Given the description of an element on the screen output the (x, y) to click on. 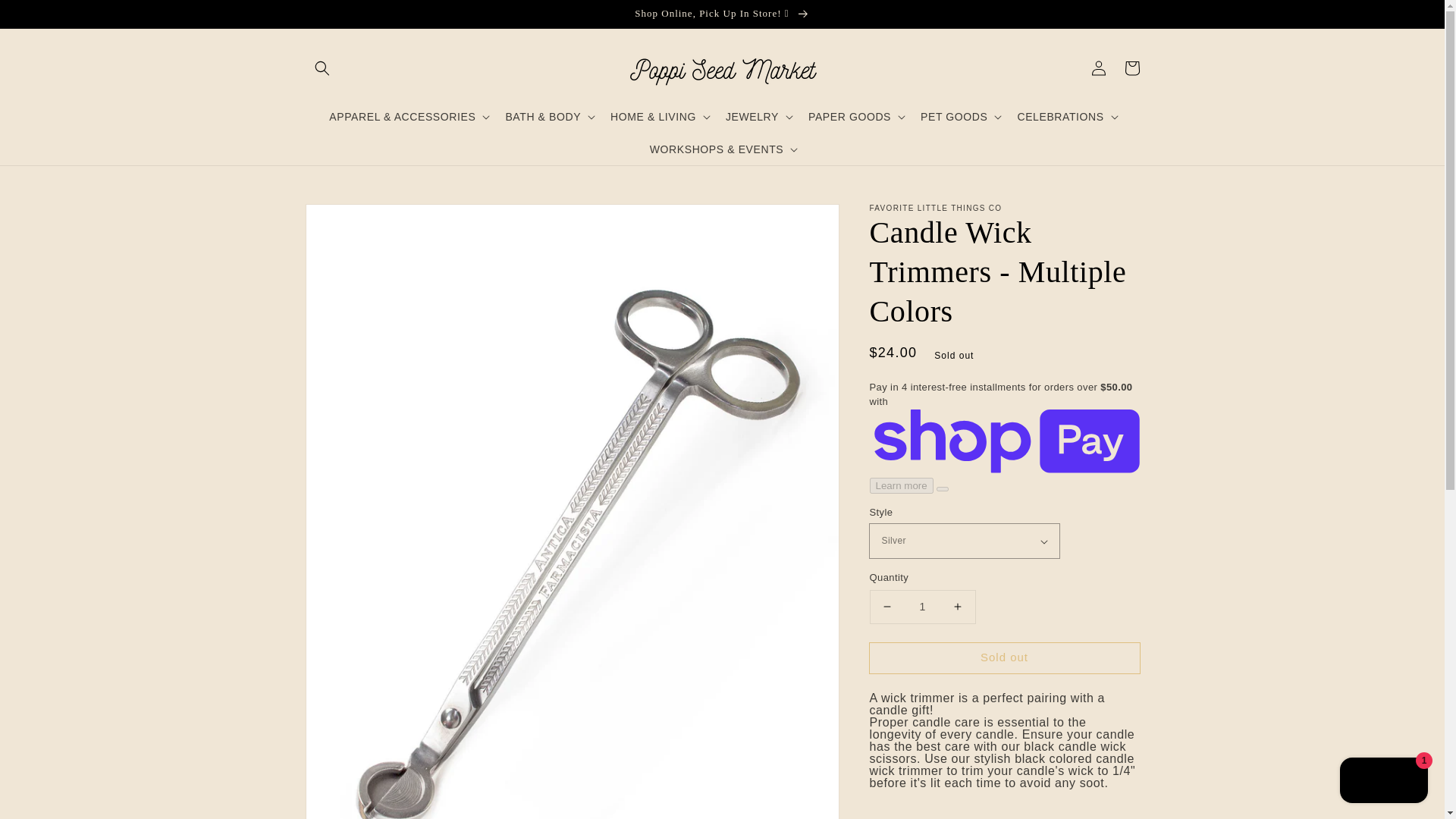
1 (922, 606)
Shopify online store chat (1383, 781)
Skip to content (45, 14)
